Given the description of an element on the screen output the (x, y) to click on. 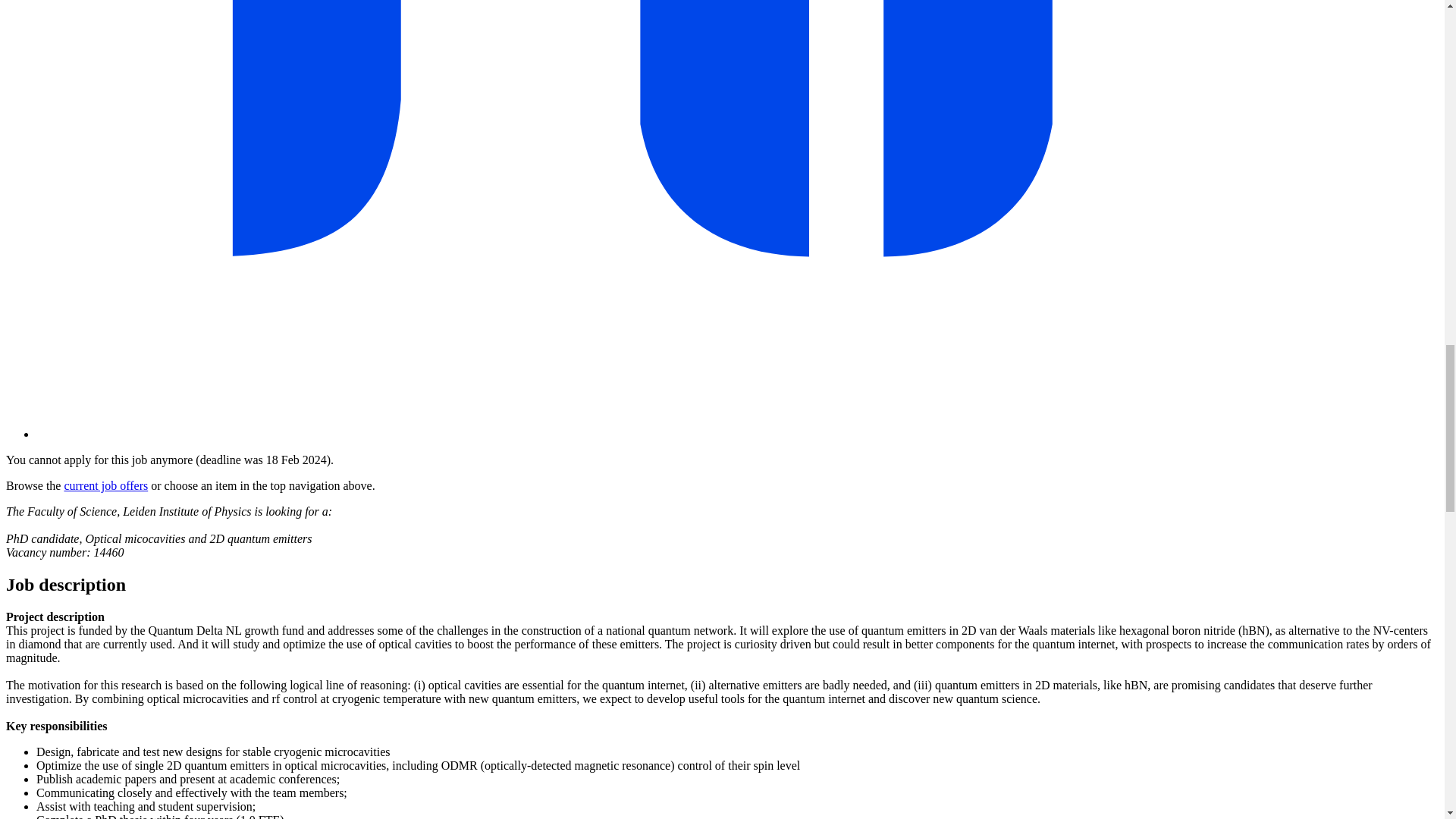
current job offers (106, 485)
